Given the description of an element on the screen output the (x, y) to click on. 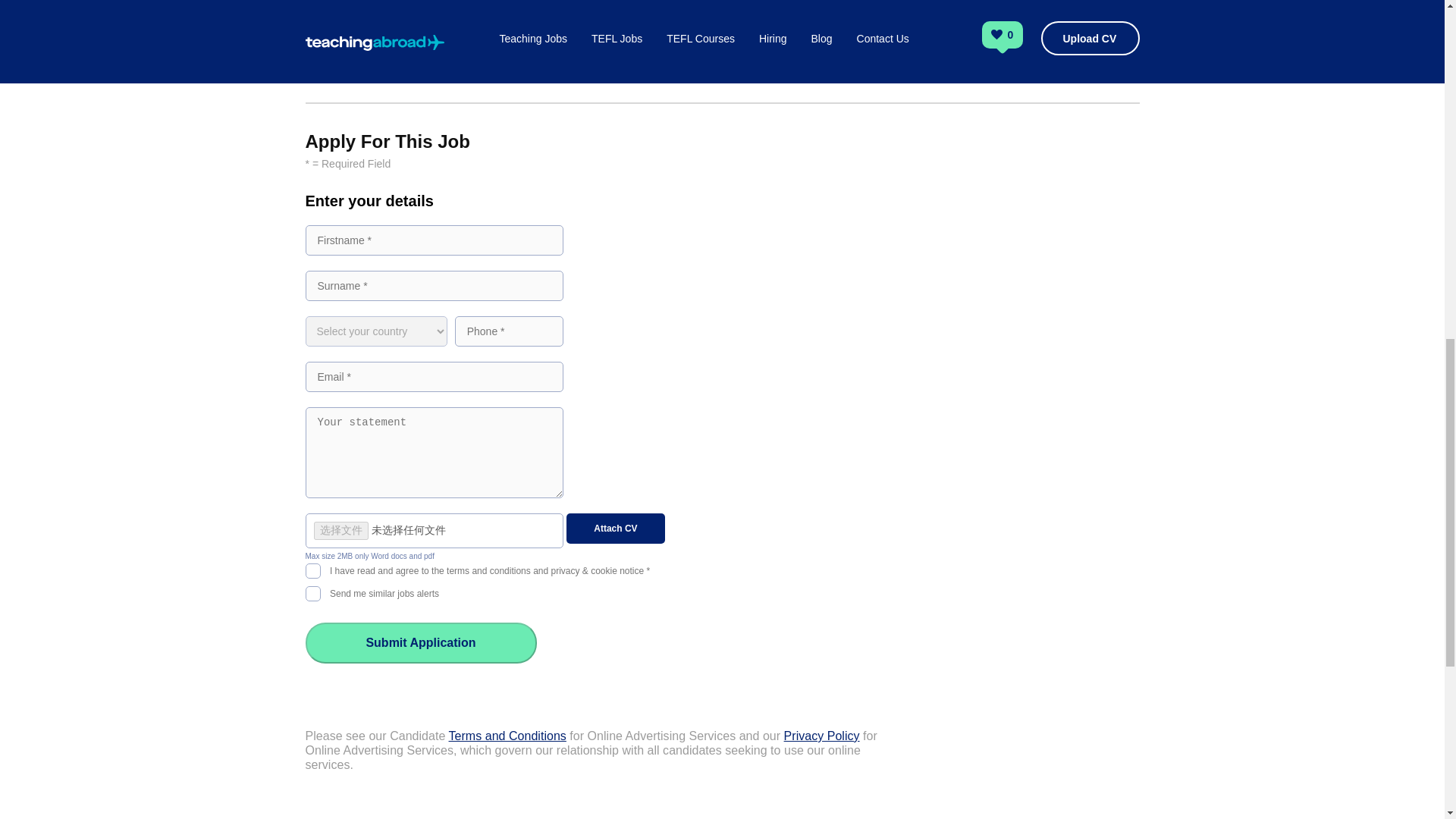
Privacy Policy (822, 735)
Terms and Conditions (507, 735)
on (312, 592)
Please see our Candidate (376, 735)
on (312, 569)
Submit Application (419, 642)
